Given the description of an element on the screen output the (x, y) to click on. 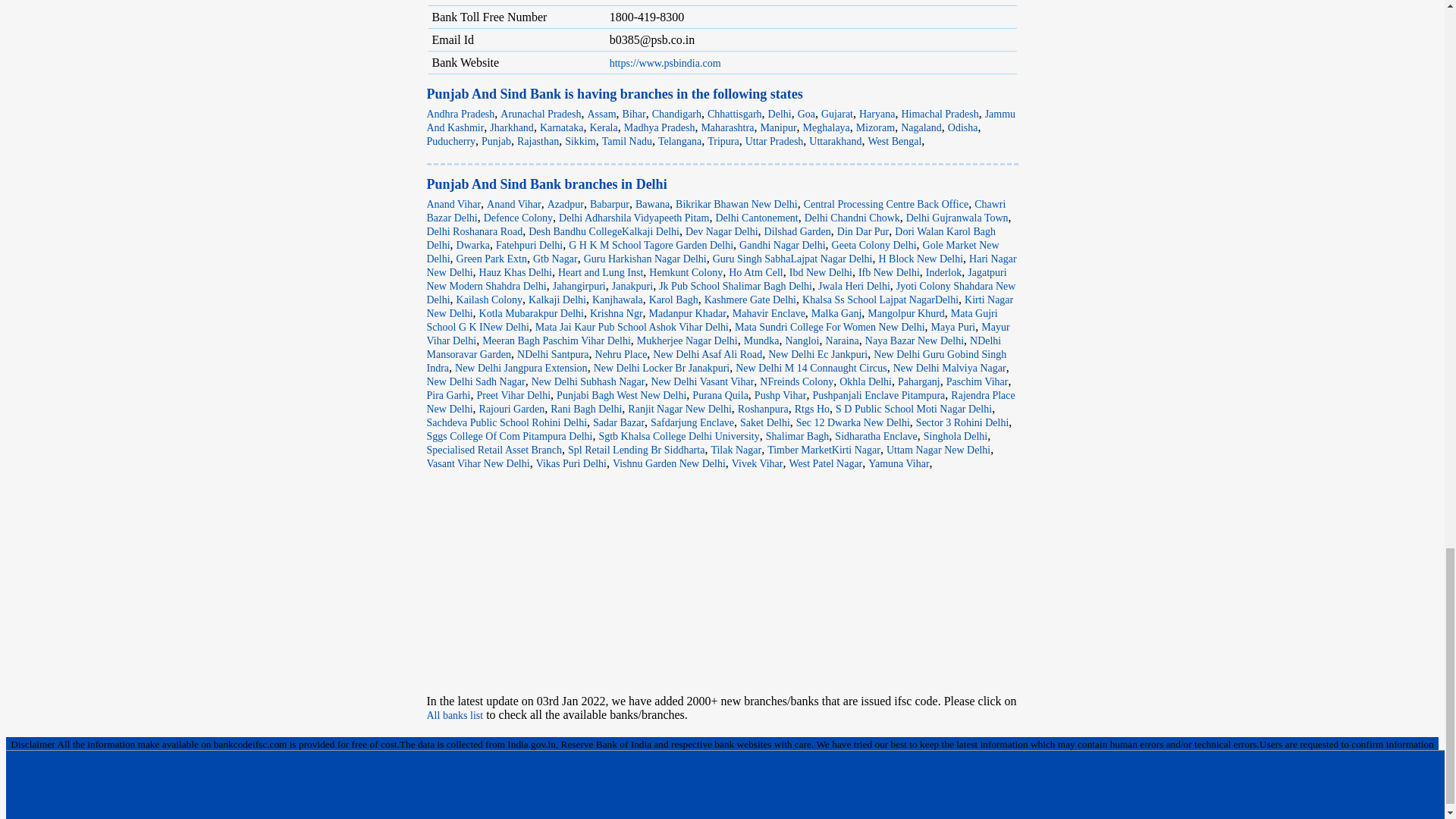
Kerala (603, 127)
Andhra Pradesh (460, 113)
Jammu And Kashmir (720, 120)
Chandigarh (676, 113)
Haryana (877, 113)
Bihar (634, 113)
Jharkhand (511, 127)
Karnataka (561, 127)
Himachal Pradesh (939, 113)
Puducherry (451, 141)
